Given the description of an element on the screen output the (x, y) to click on. 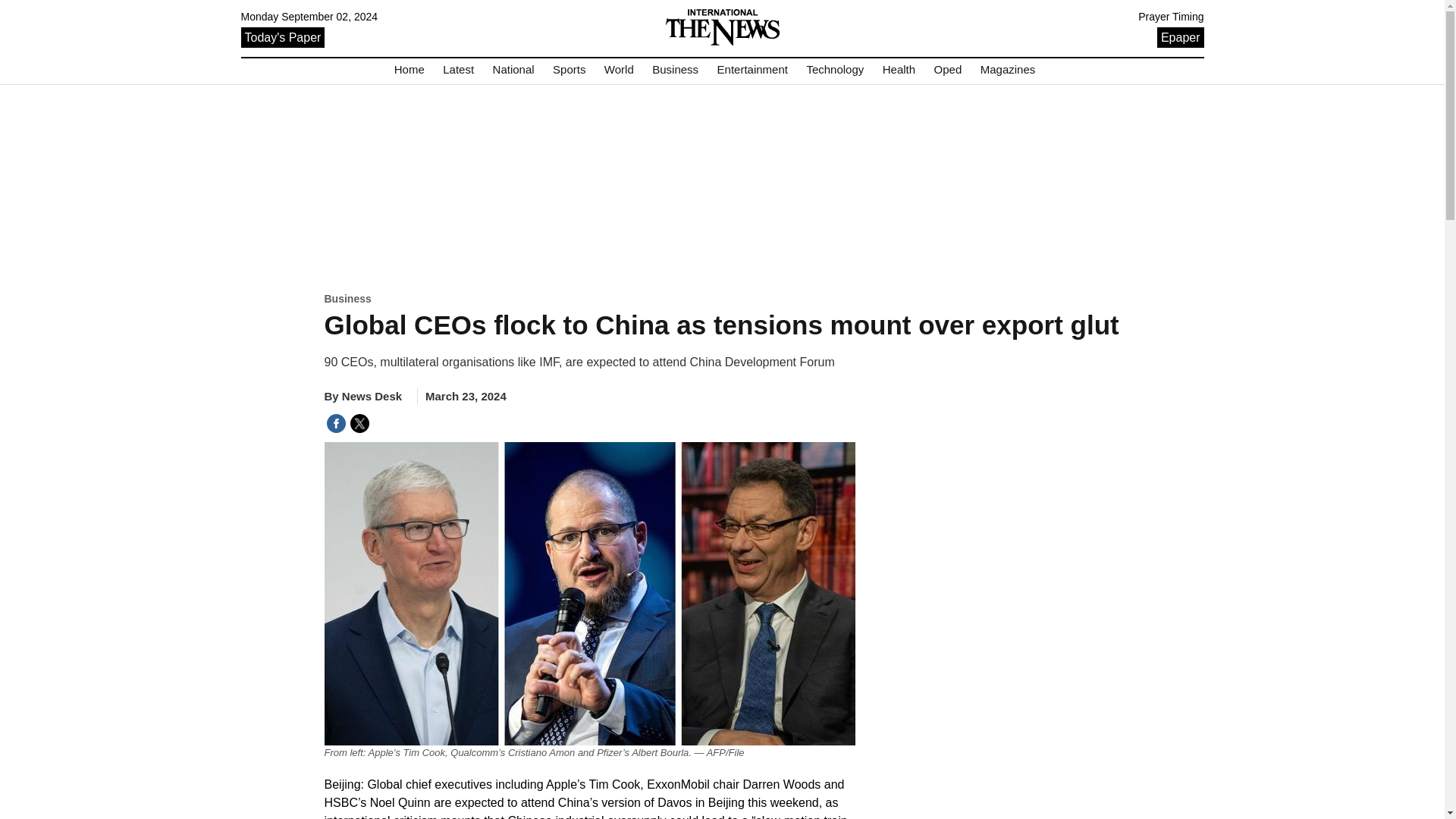
Entertainment (752, 69)
Home (409, 69)
National (512, 69)
Epaper (1180, 37)
Technology (833, 69)
Health (899, 69)
Prayer Timing (1171, 16)
Today's Paper (282, 37)
World (619, 69)
Sports (568, 69)
